Given the description of an element on the screen output the (x, y) to click on. 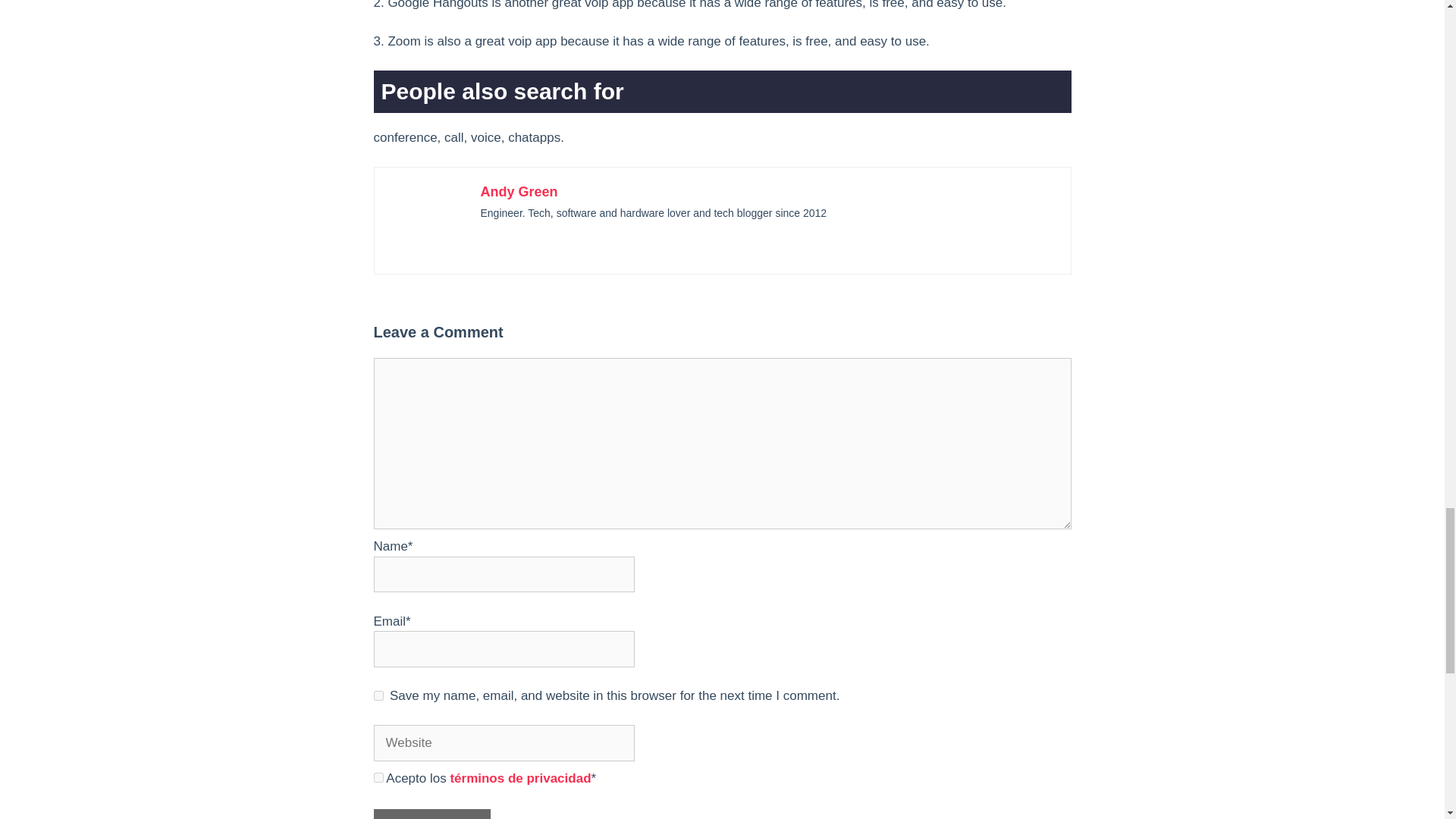
Andy Green (518, 191)
Post Comment (430, 814)
yes (377, 696)
Post Comment (430, 814)
on (377, 777)
